Given the description of an element on the screen output the (x, y) to click on. 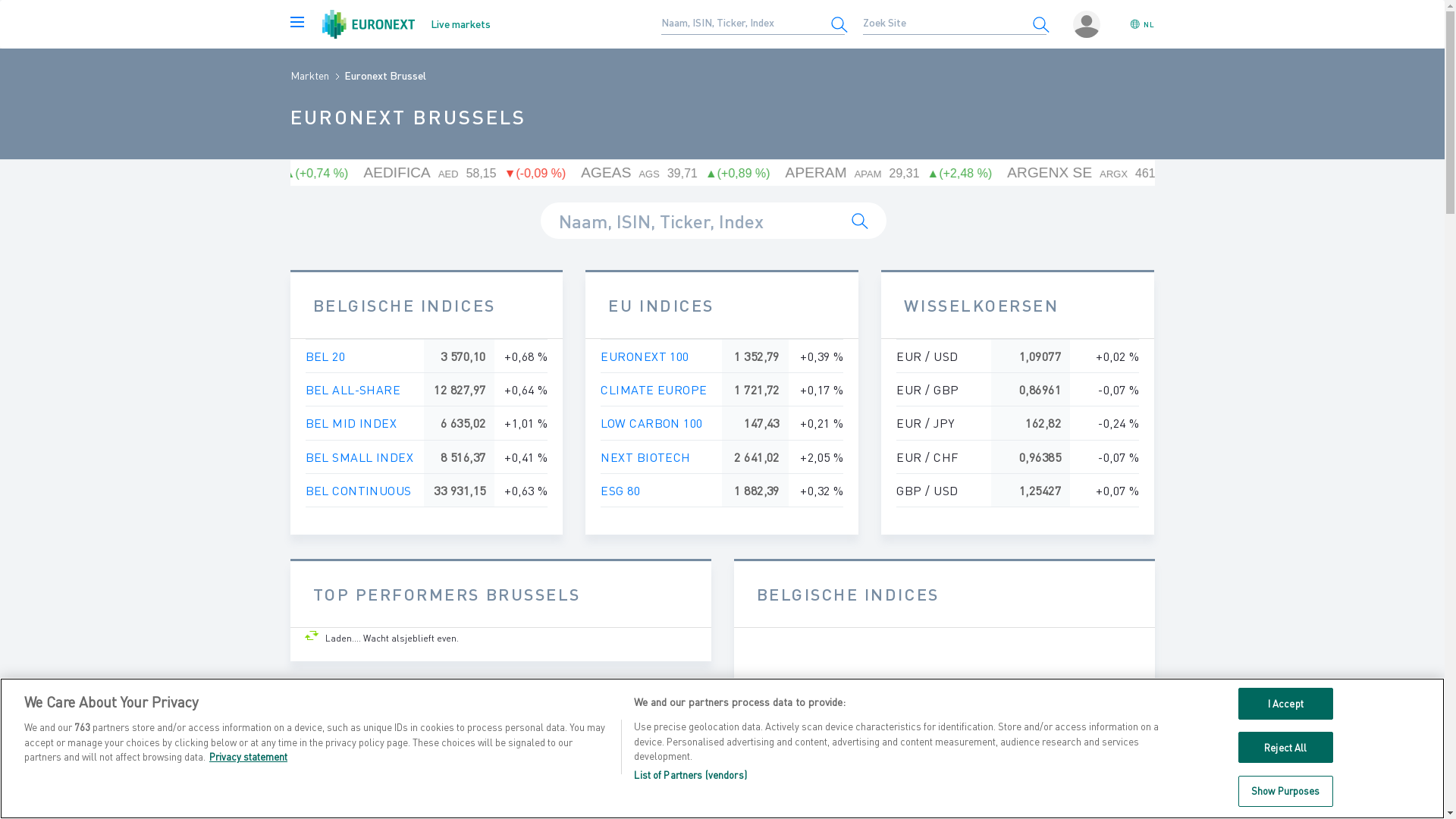
Search Element type: text (838, 24)
Search Element type: text (859, 220)
Reject All Element type: text (1285, 747)
NL Element type: text (1141, 23)
Show Purposes Element type: text (1285, 790)
Overslaan en naar de inhoud gaan Element type: text (0, 0)
Geef de woorden op waarnaar u wilt zoeken. Element type: hover (945, 21)
Search Element type: text (1040, 24)
BEL CONTINUOUS Element type: text (357, 490)
Toggle navigation Element type: text (296, 23)
BEL MID INDEX Element type: text (350, 422)
BEL 20 Element type: text (324, 356)
Euronext Brussel Element type: text (385, 74)
Live markets Element type: text (405, 24)
Geef de woorden op waarnaar u wilt zoeken. Element type: hover (743, 21)
BEL ALL-SHARE Element type: text (352, 389)
LOW CARBON 100 Element type: text (651, 422)
Markten Element type: text (308, 74)
Privacy statement Element type: text (248, 755)
List of Partners (vendors) Element type: text (689, 774)
BEL SMALL INDEX Element type: text (358, 456)
CLIMATE EUROPE Element type: text (653, 389)
NEXT BIOTECH Element type: text (645, 456)
ESG 80 Element type: text (620, 490)
EURONEXT 100 Element type: text (644, 356)
I Accept Element type: text (1285, 703)
Geef de woorden op waarnaar u wilt zoeken. Element type: hover (712, 220)
